Given the description of an element on the screen output the (x, y) to click on. 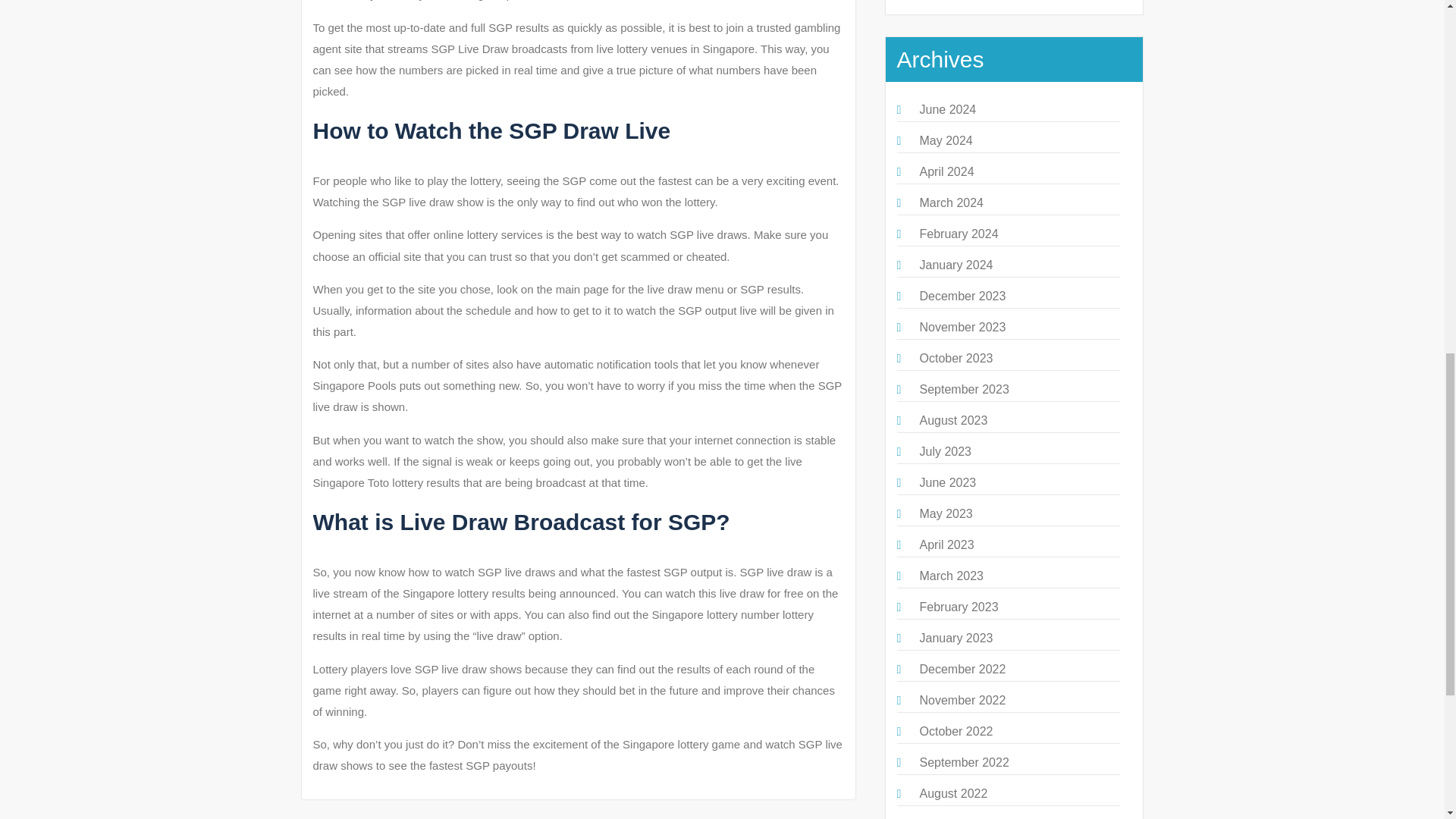
August 2023 (952, 420)
October 2022 (955, 730)
January 2024 (955, 264)
March 2023 (951, 575)
August 2022 (952, 793)
May 2023 (945, 513)
September 2023 (963, 389)
October 2023 (955, 358)
June 2023 (946, 481)
November 2023 (962, 327)
May 2024 (945, 140)
September 2022 (963, 762)
December 2022 (962, 668)
February 2024 (957, 233)
March 2024 (951, 202)
